Given the description of an element on the screen output the (x, y) to click on. 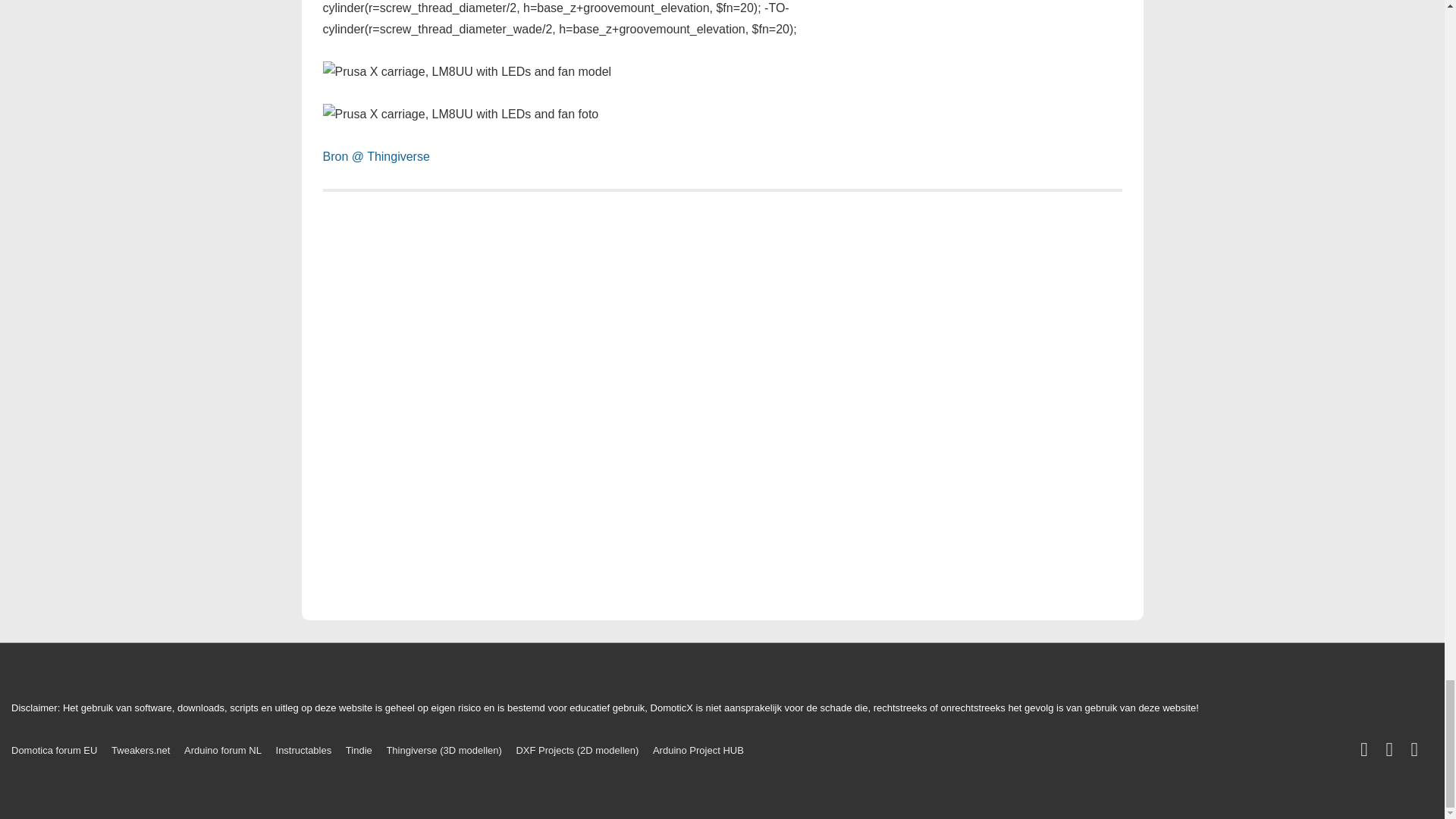
youtube (1416, 752)
Domotica forum EU (54, 749)
linkedin (1392, 752)
Instructables (303, 749)
Arduino forum NL (223, 749)
Tweakers.net (141, 749)
facebook (1366, 752)
Tindie (359, 749)
